Given the description of an element on the screen output the (x, y) to click on. 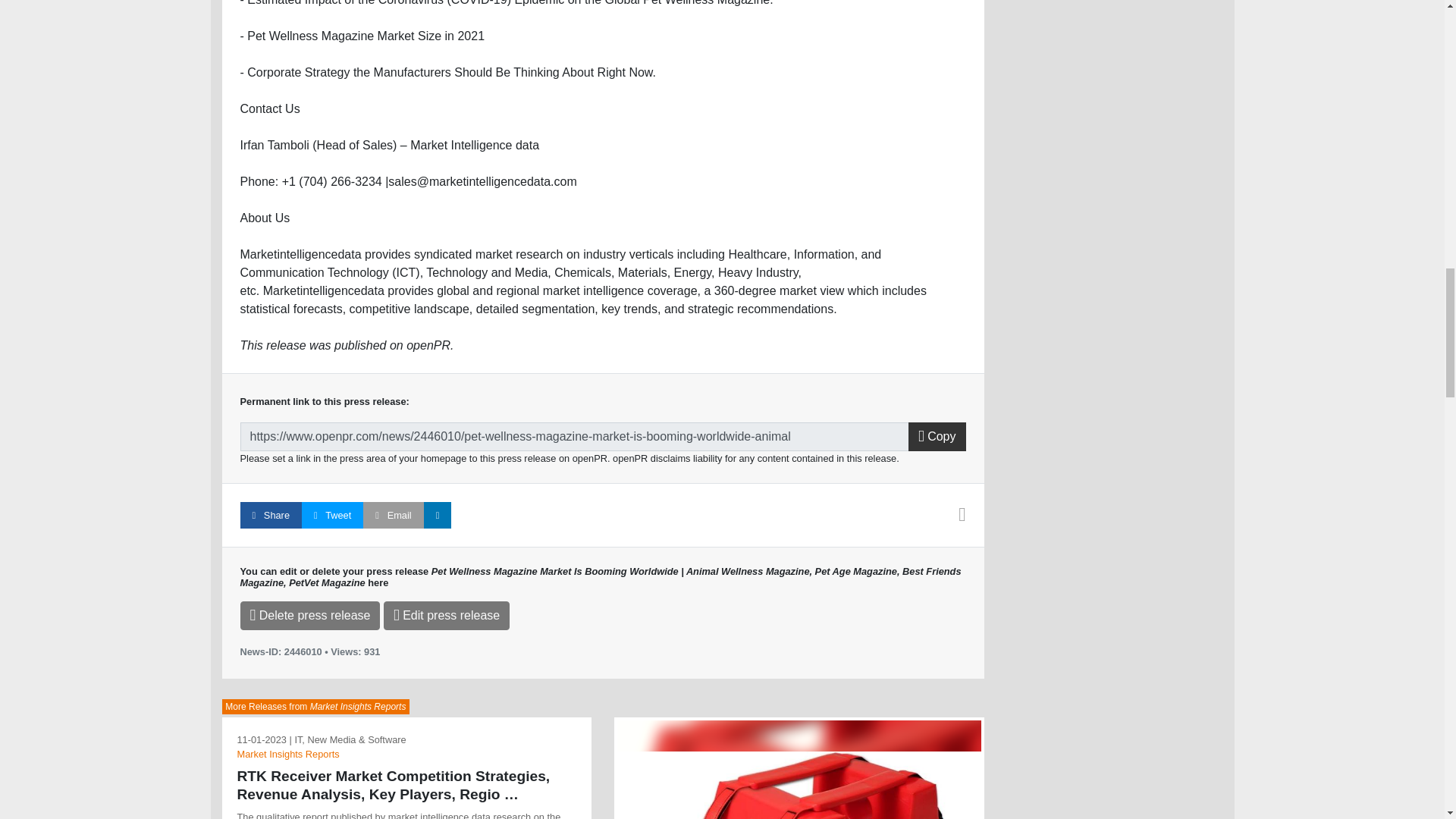
Permalink (574, 436)
Email (392, 515)
Facebook (270, 515)
LinkedIn (437, 515)
Print (961, 517)
